Given the description of an element on the screen output the (x, y) to click on. 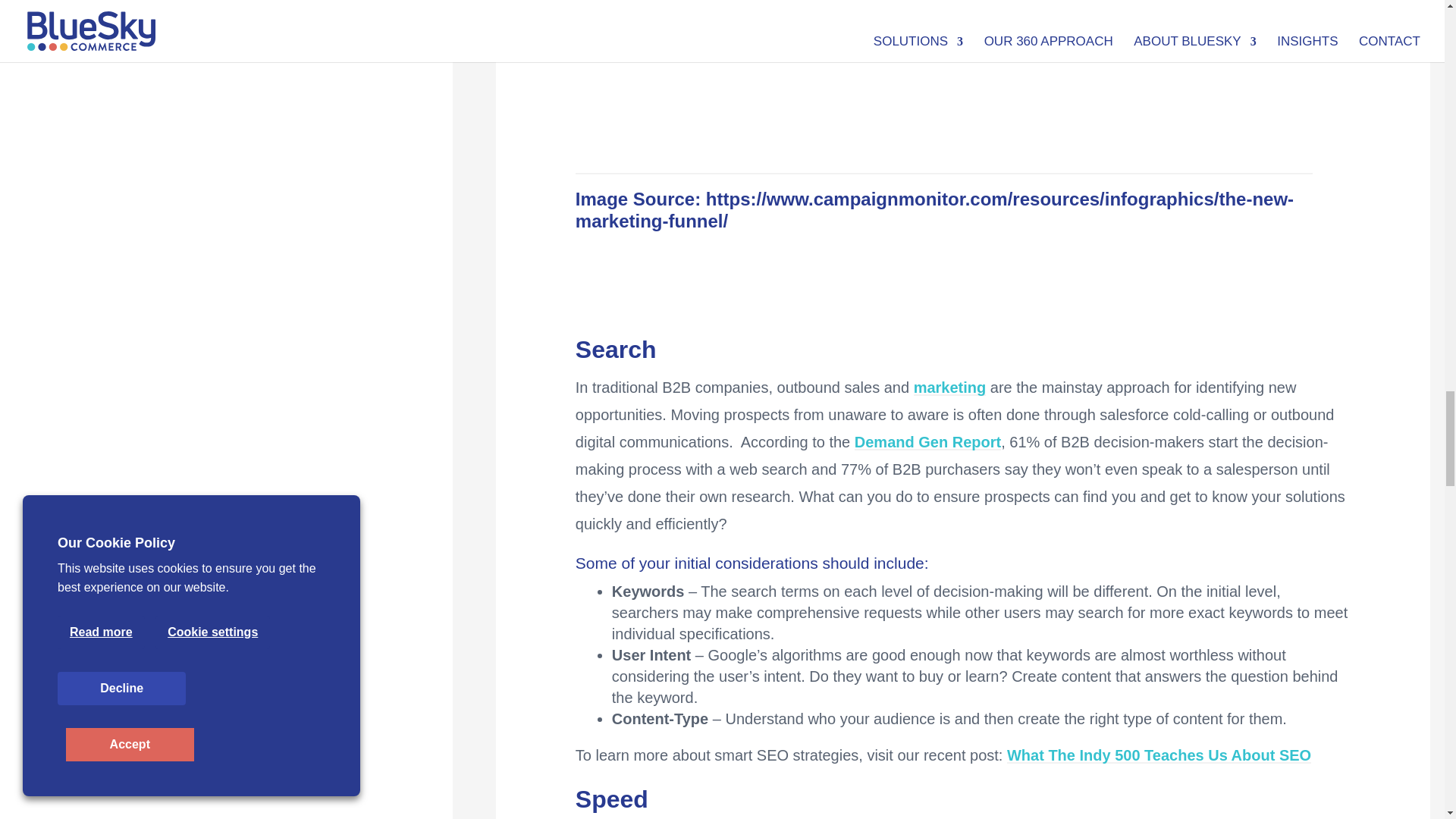
Cm-New-Marketing-Funnel-Infographic- (944, 85)
